Given the description of an element on the screen output the (x, y) to click on. 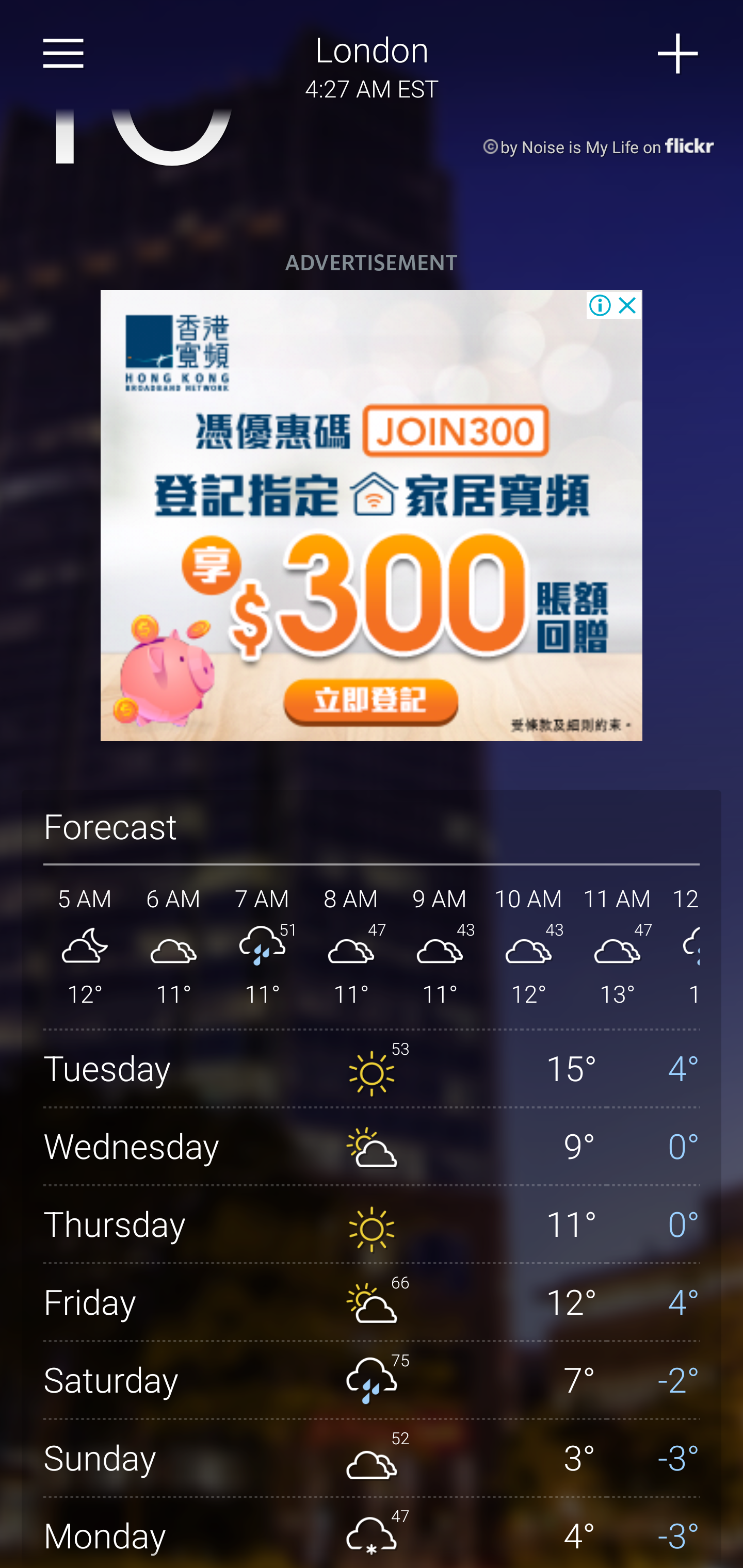
Sidebar (64, 54)
Add City (678, 53)
